Given the description of an element on the screen output the (x, y) to click on. 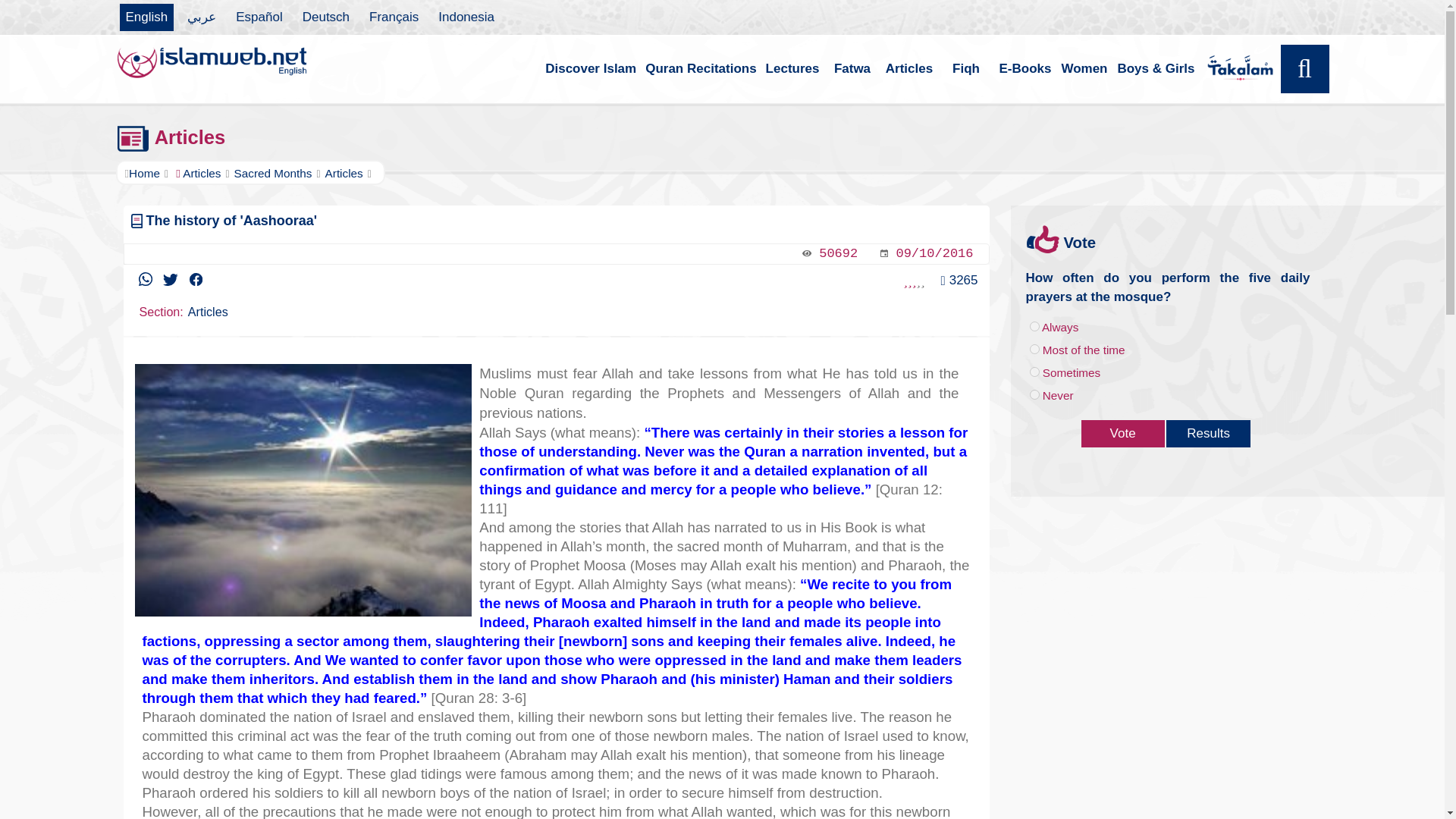
English (146, 17)
Quran Recitations (700, 69)
Discover Islam (590, 69)
Lectures (792, 69)
Indonesia (466, 17)
RATE : 3 out of 5 according to 2  opinion (913, 280)
1 (1034, 326)
E-Books (1024, 69)
4 (1034, 394)
Deutsch (326, 17)
3 (1034, 371)
2 (1034, 348)
